Given the description of an element on the screen output the (x, y) to click on. 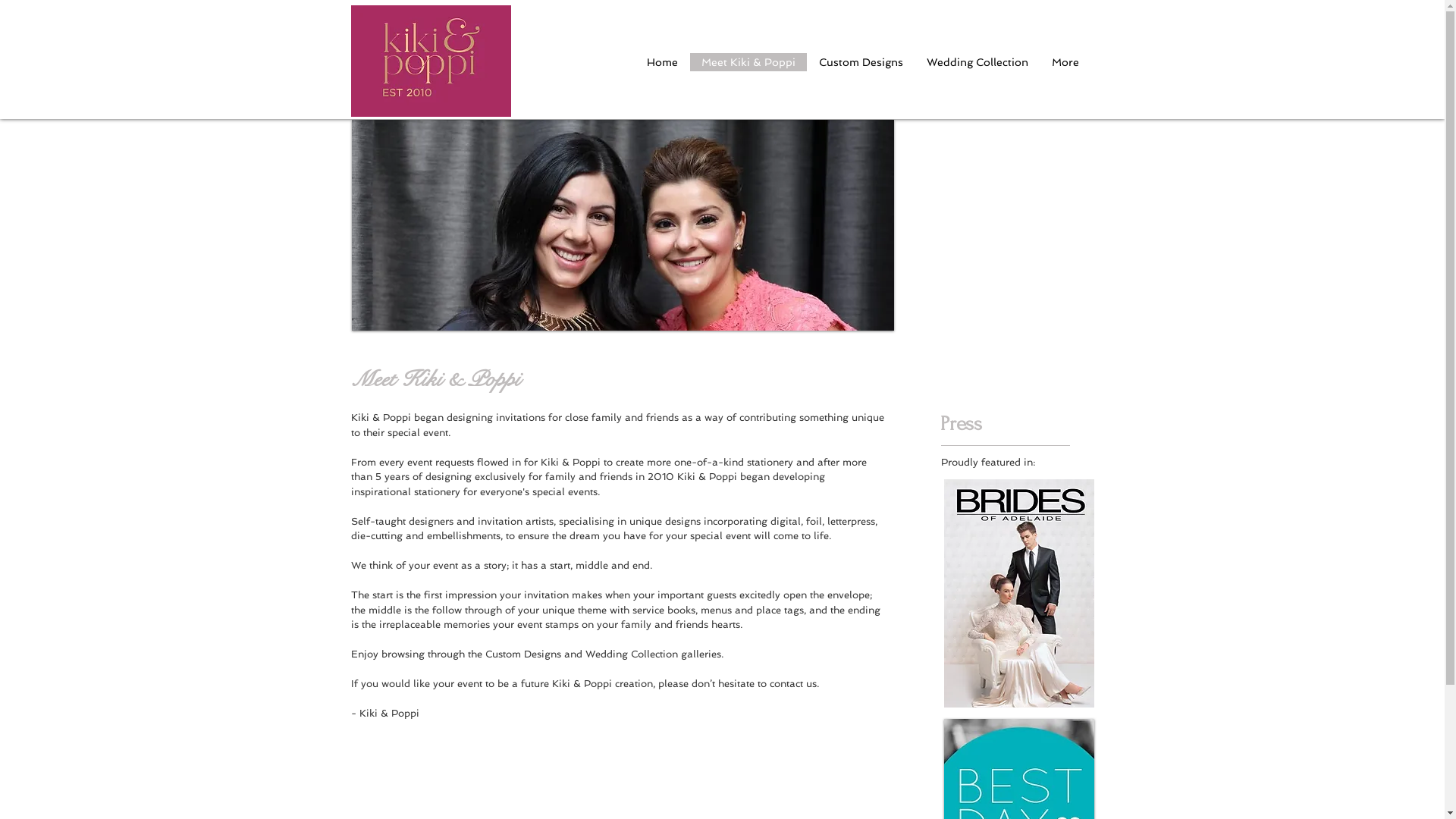
Meet Kiki & Poppi Element type: text (747, 62)
Wedding Collection Element type: text (976, 62)
Custom Designs Element type: text (860, 62)
Home Element type: text (660, 62)
